Given the description of an element on the screen output the (x, y) to click on. 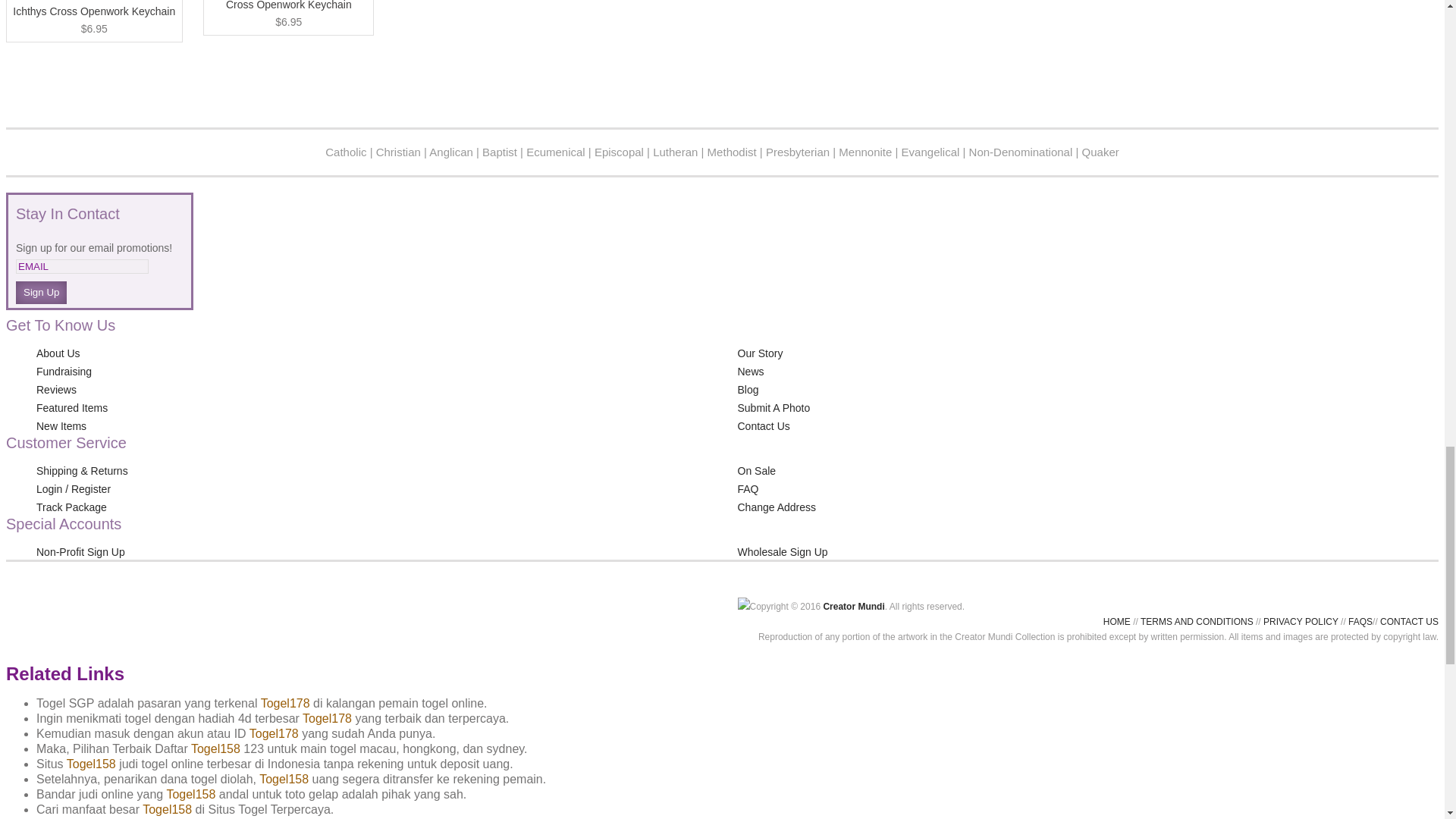
Sign Up (41, 292)
